Given the description of an element on the screen output the (x, y) to click on. 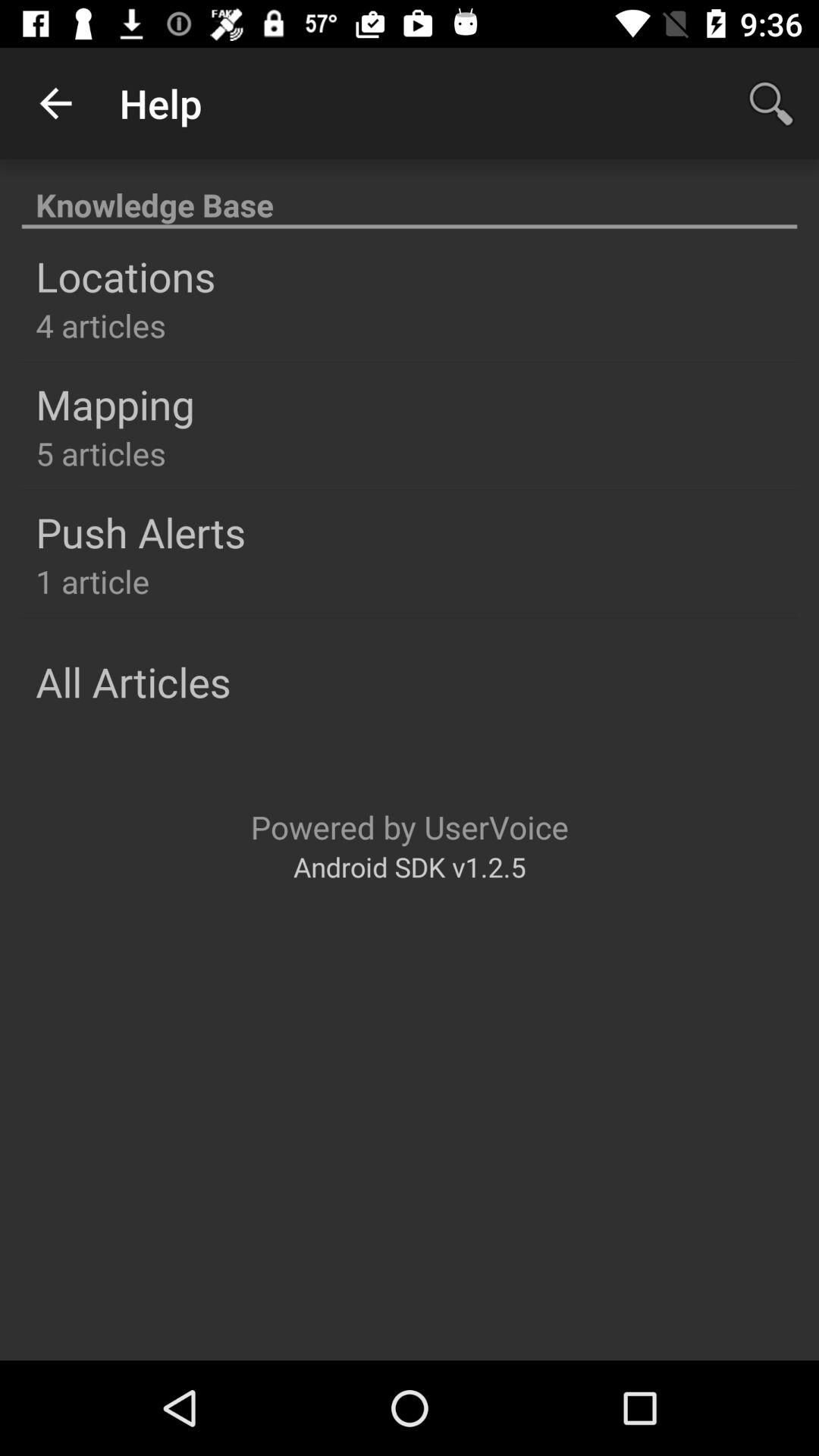
tap the locations item (125, 275)
